Given the description of an element on the screen output the (x, y) to click on. 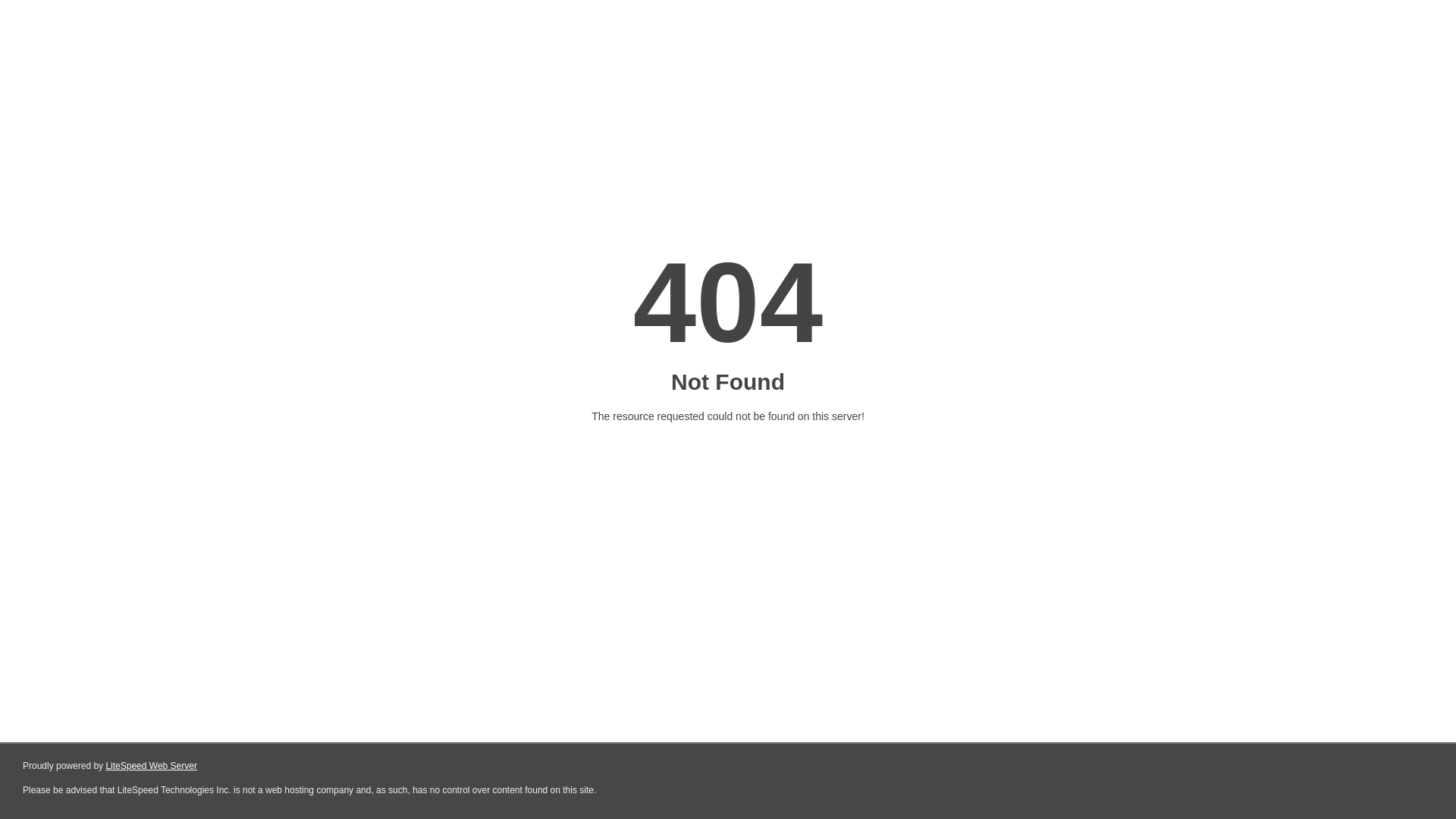
LiteSpeed Web Server Element type: text (151, 765)
